Given the description of an element on the screen output the (x, y) to click on. 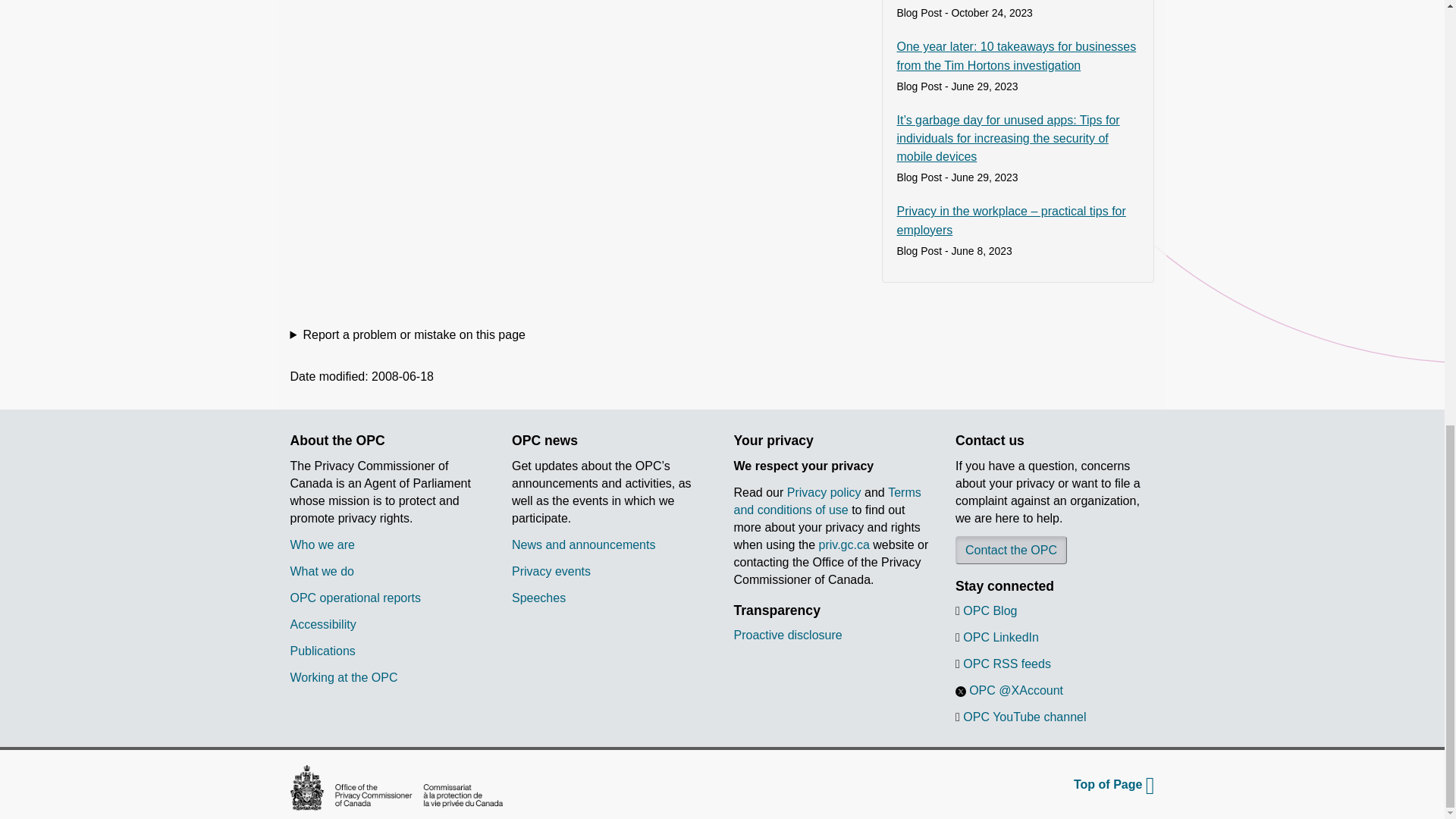
X Account (960, 691)
